Given the description of an element on the screen output the (x, y) to click on. 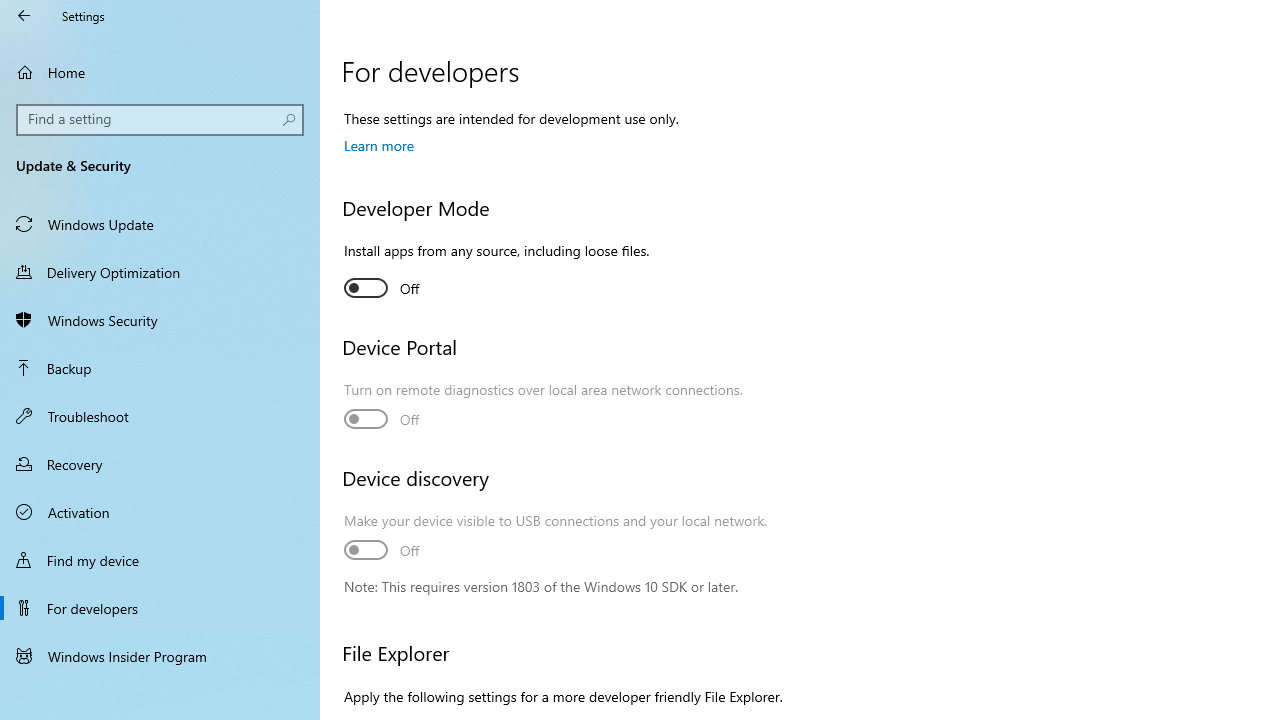
Activation (160, 511)
Find my device (160, 559)
Backup (160, 367)
Delivery Optimization (160, 271)
Windows Insider Program (160, 655)
Learn more (379, 145)
Search box, Find a setting (160, 119)
Windows Update (160, 223)
Recovery (160, 463)
Troubleshoot (160, 415)
Windows Security (160, 319)
